Given the description of an element on the screen output the (x, y) to click on. 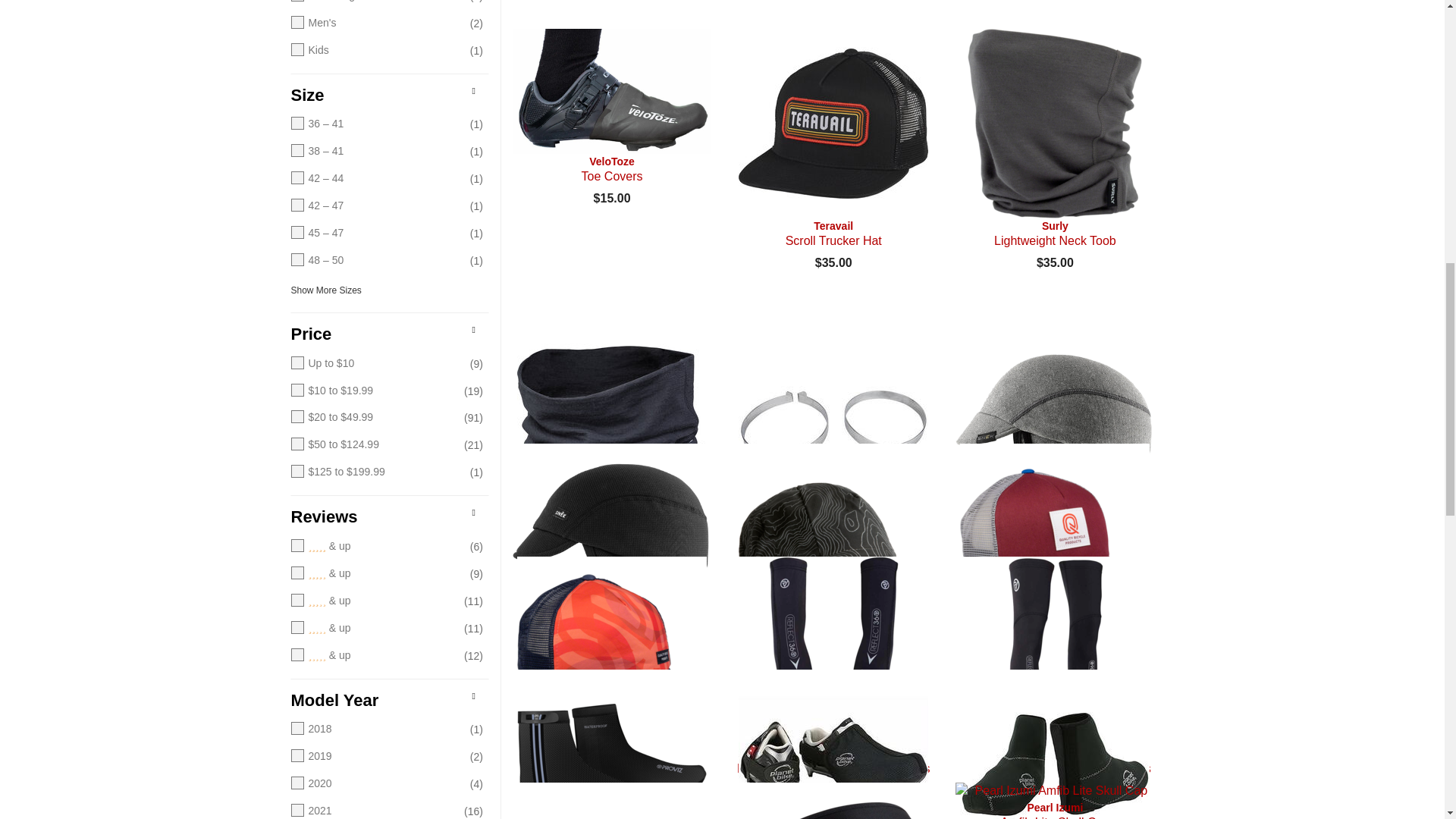
5 (374, 546)
3 (374, 601)
4 (374, 573)
2 (374, 628)
1 (374, 655)
